Given the description of an element on the screen output the (x, y) to click on. 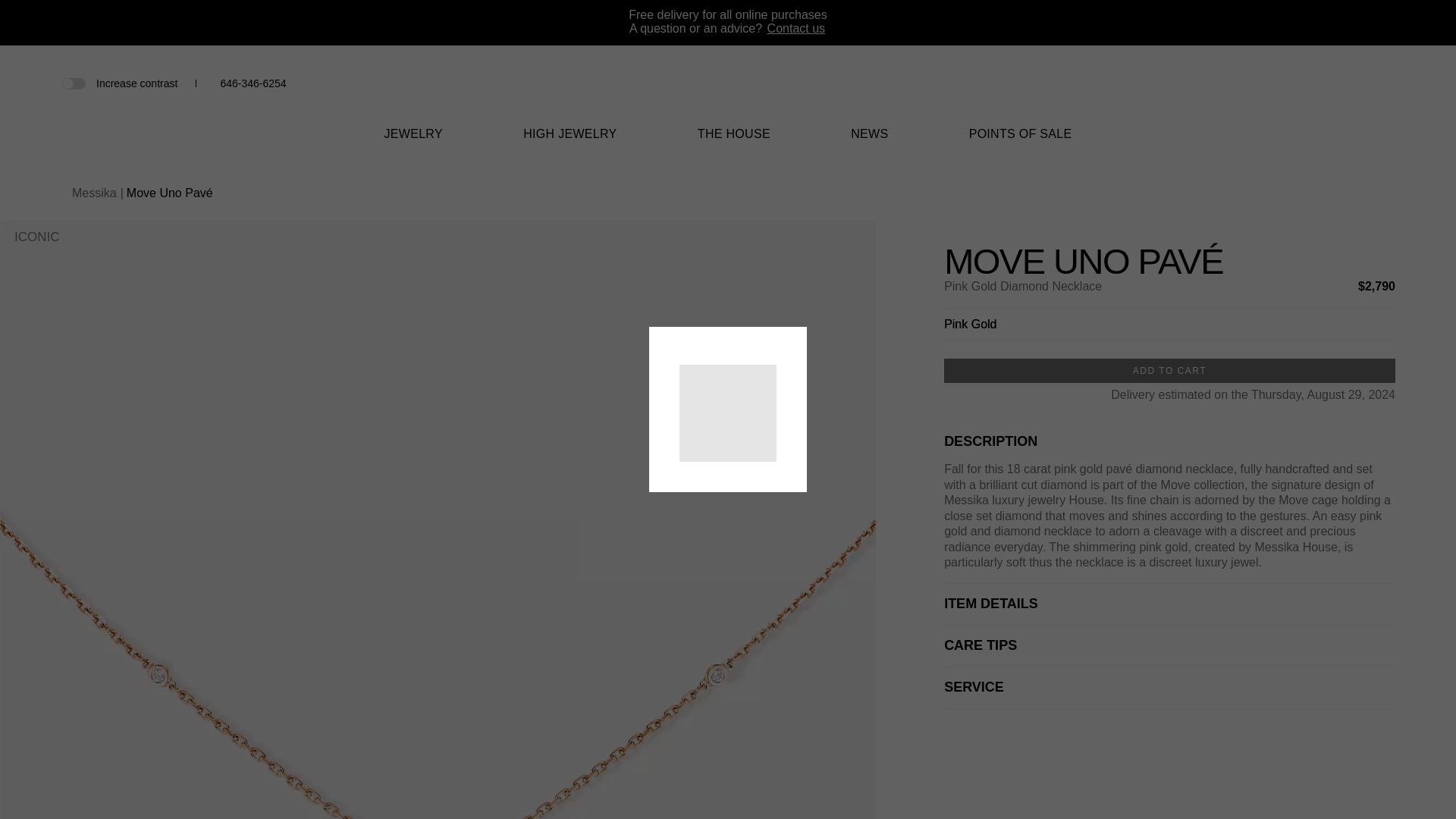
Messika (727, 92)
646-346-6254 (252, 82)
Shopping Cart (1360, 84)
on (73, 82)
Search (1310, 84)
JEWELRY (413, 142)
Wishlist (1335, 83)
646-346-6254 (252, 82)
Wishlist (1335, 84)
Messika (727, 103)
